Given the description of an element on the screen output the (x, y) to click on. 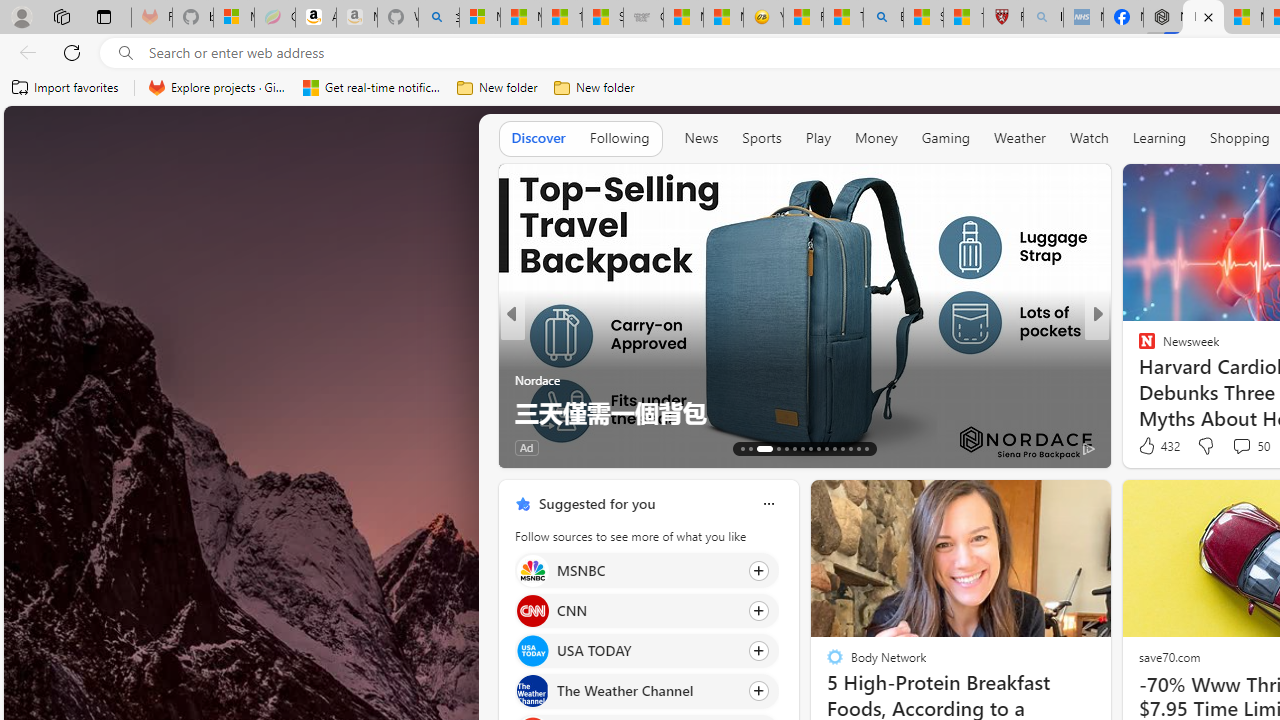
View comments 104 Comment (1234, 447)
CNN (532, 610)
AutomationID: tab-72 (801, 448)
12 Popular Science Lies that Must be Corrected (963, 17)
AutomationID: tab-78 (850, 448)
Money (876, 138)
View comments 1 Comment (1229, 447)
save70.com (1168, 656)
AutomationID: tab-71 (793, 448)
113 Like (1151, 447)
GOBankingRates (522, 347)
Learning (1159, 138)
